Given the description of an element on the screen output the (x, y) to click on. 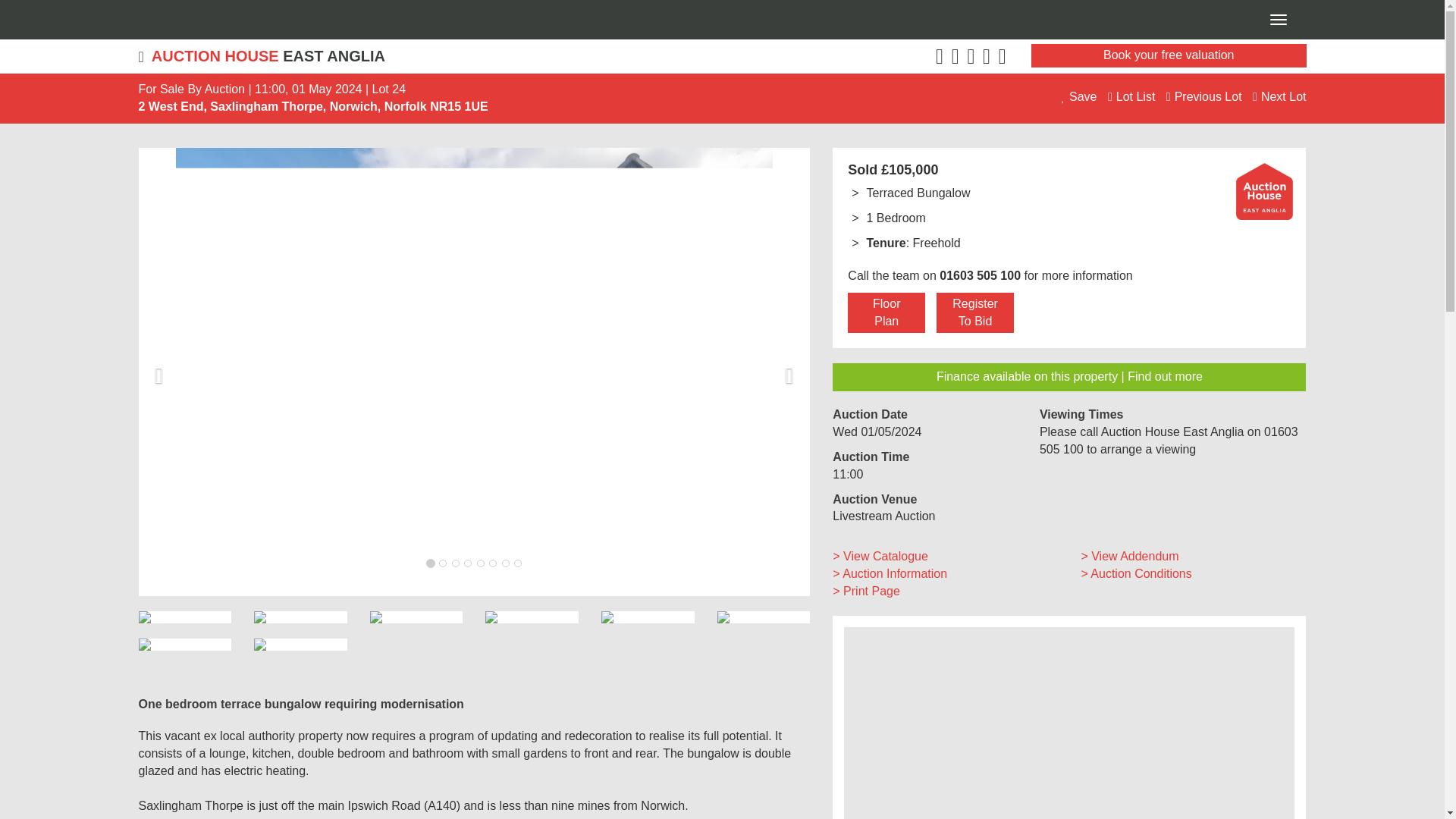
Log in to add this property to My Auction House. (1080, 96)
View Catalogue (1128, 555)
View our Bidding Guide (889, 573)
Read our common auction conditions (1135, 573)
View Catalogue (880, 555)
Auction House (1264, 189)
Proxy Bidding Form (974, 312)
AUCTION HOUSE EAST ANGLIA (424, 55)
Auction House Auction House East Anglia (424, 55)
